Given the description of an element on the screen output the (x, y) to click on. 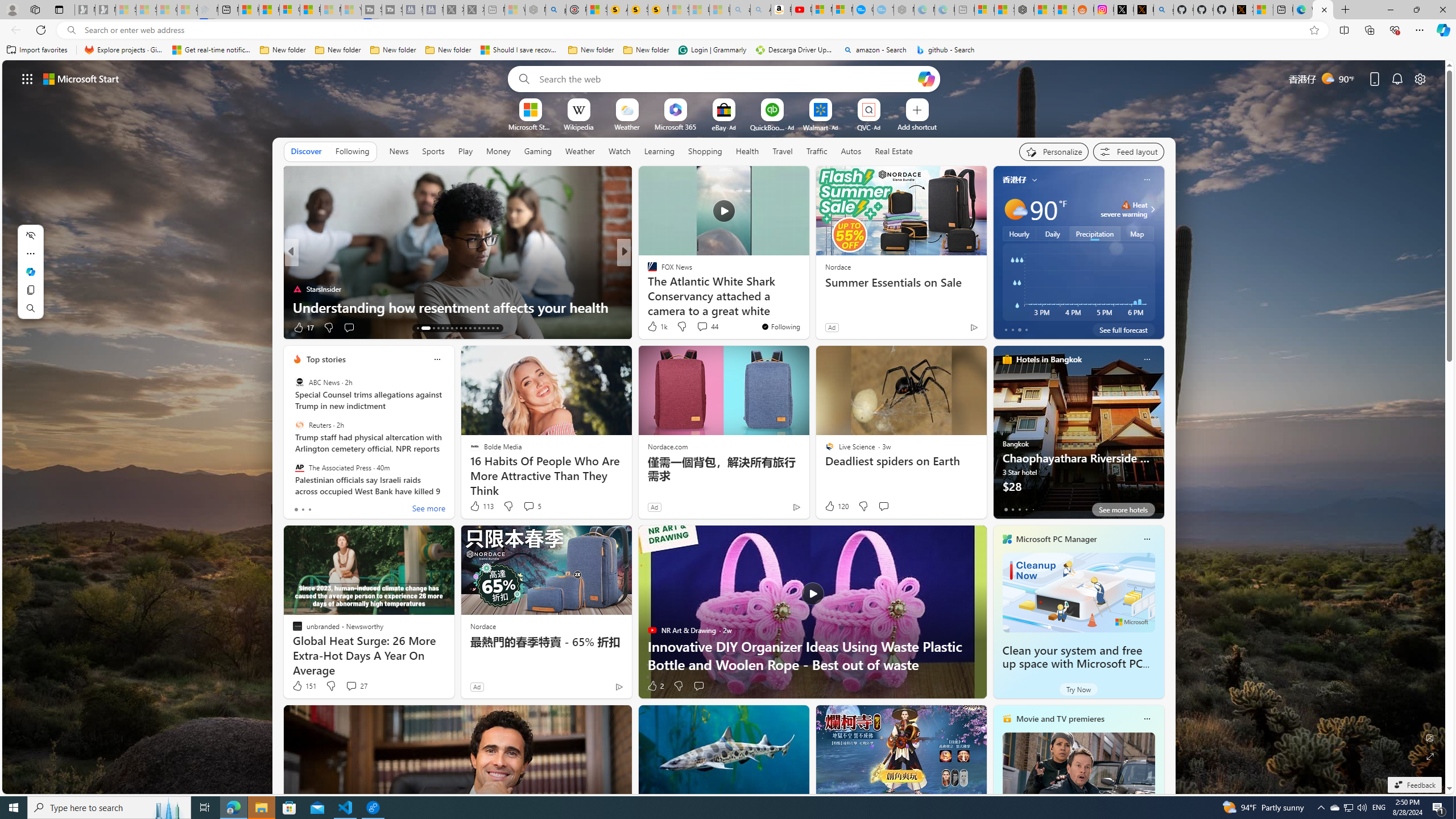
Search icon (70, 29)
Mostly sunny (1014, 208)
See full forecast (1123, 329)
News (398, 151)
79 Like (652, 327)
Nordace - Duffels (1024, 9)
ABC News (299, 382)
View comments 6 Comment (702, 327)
Woman's World (647, 270)
